Given the description of an element on the screen output the (x, y) to click on. 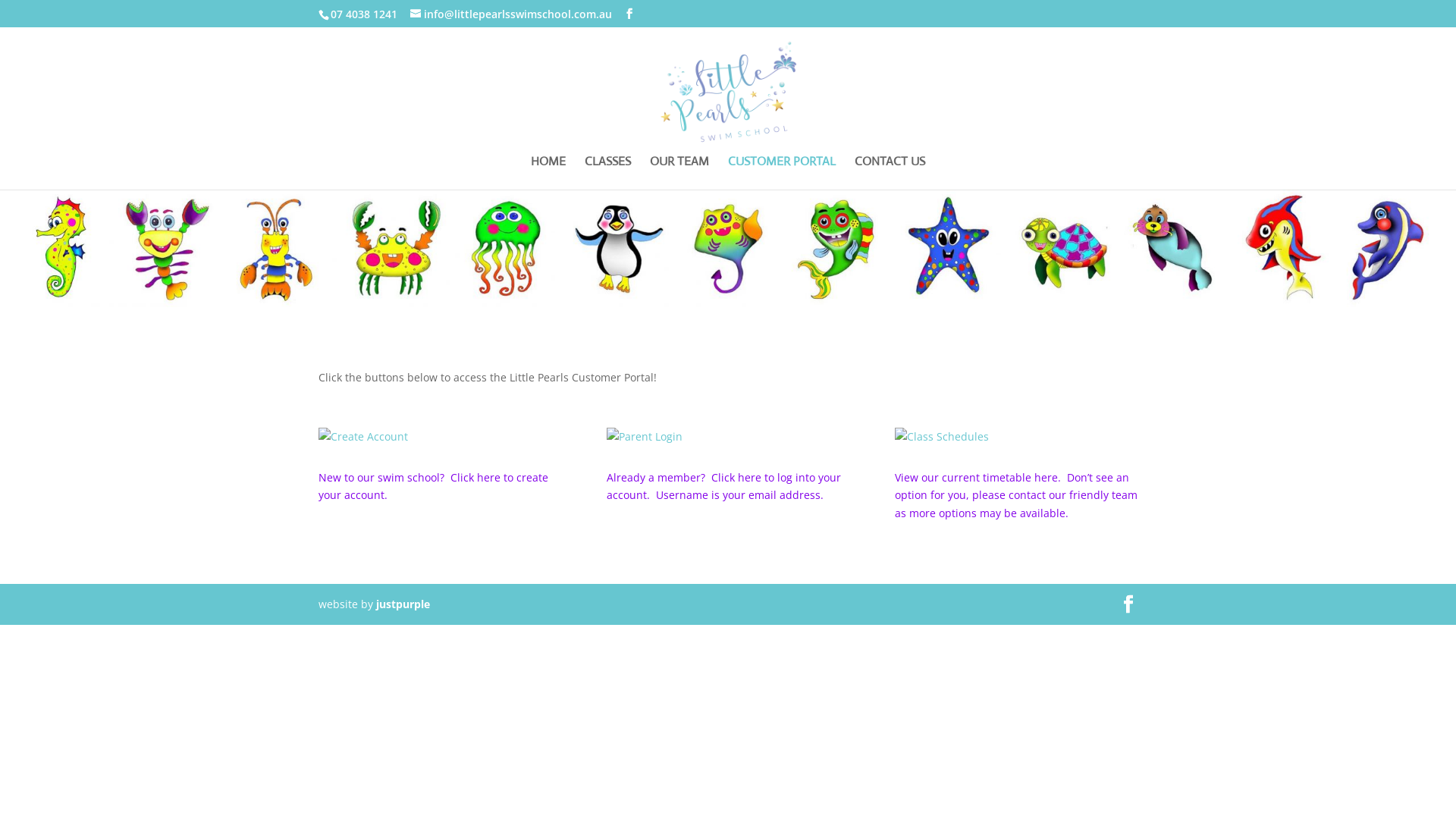
CLASSES Element type: text (607, 172)
info@littlepearlsswimschool.com.au Element type: text (510, 13)
CUSTOMER PORTAL Element type: text (781, 172)
HOME Element type: text (547, 172)
OUR TEAM Element type: text (679, 172)
justpurple Element type: text (402, 603)
CONTACT US Element type: text (889, 172)
